Given the description of an element on the screen output the (x, y) to click on. 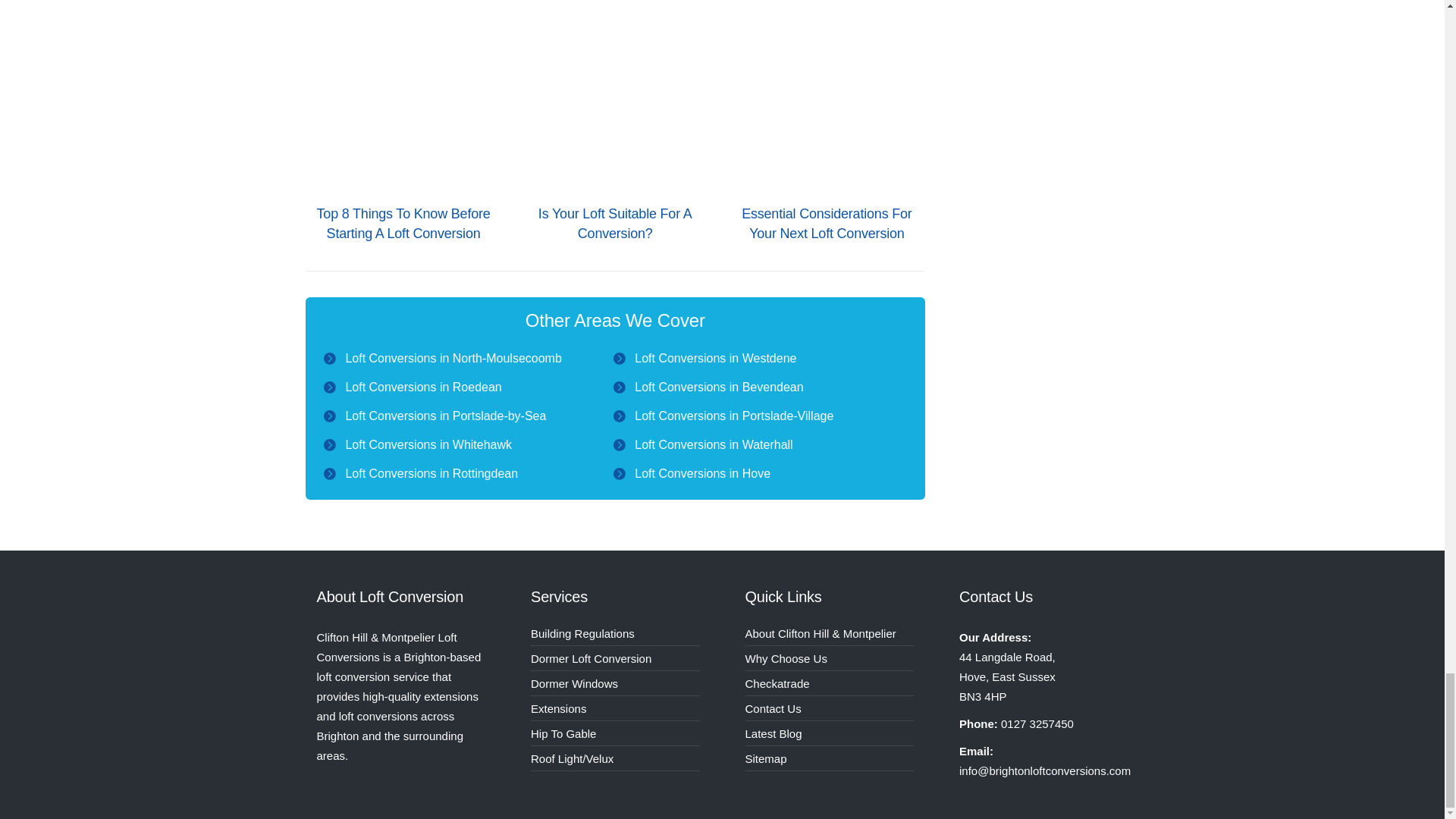
Top 8 Things to Know Before Starting a Loft Conversion (403, 223)
Top 8 Things to Know Before Starting a Loft Conversion (402, 96)
